Given the description of an element on the screen output the (x, y) to click on. 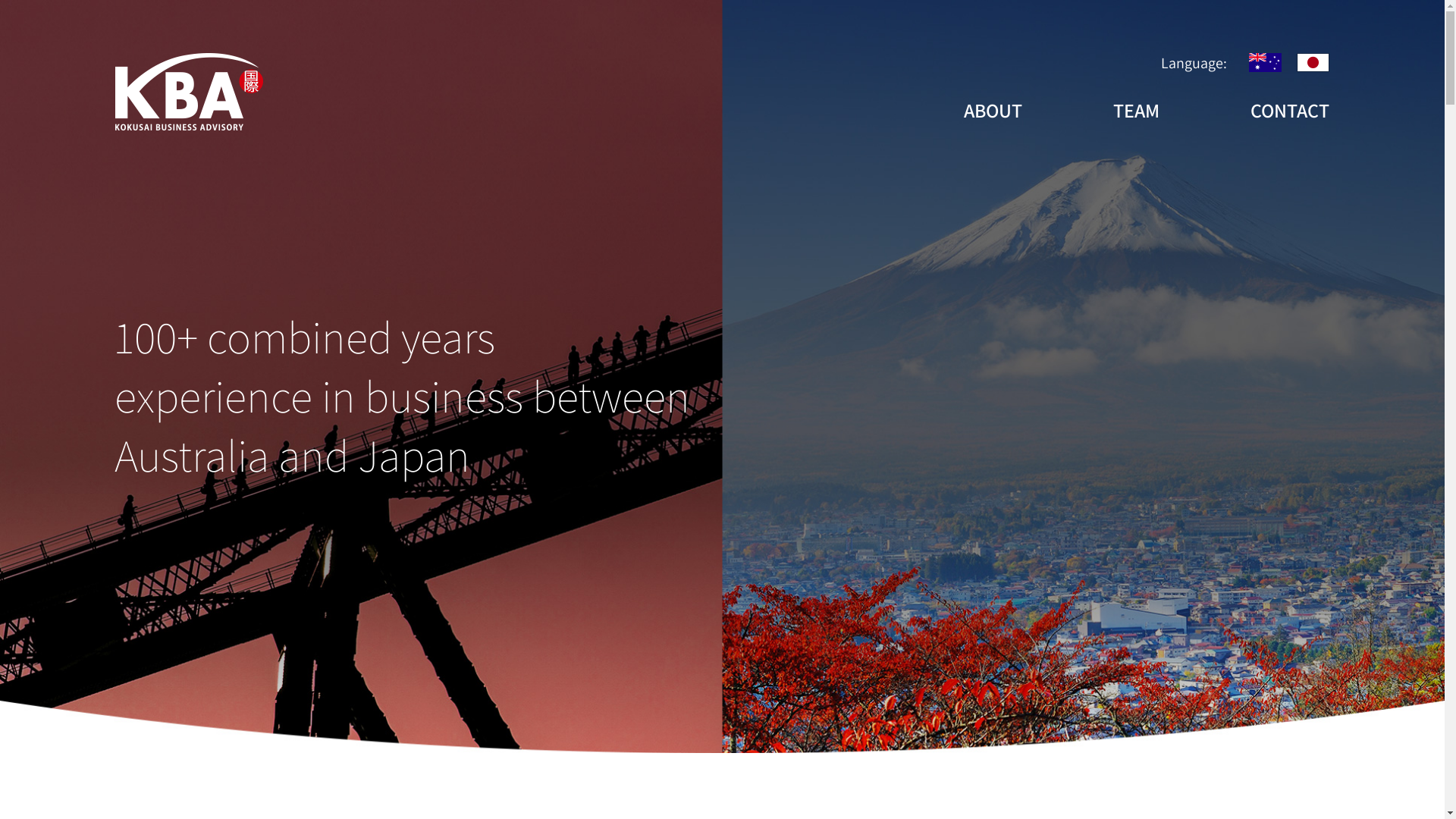
ABOUT Element type: text (992, 109)
TEAM Element type: text (1136, 109)
CONTACT Element type: text (1289, 109)
